Given the description of an element on the screen output the (x, y) to click on. 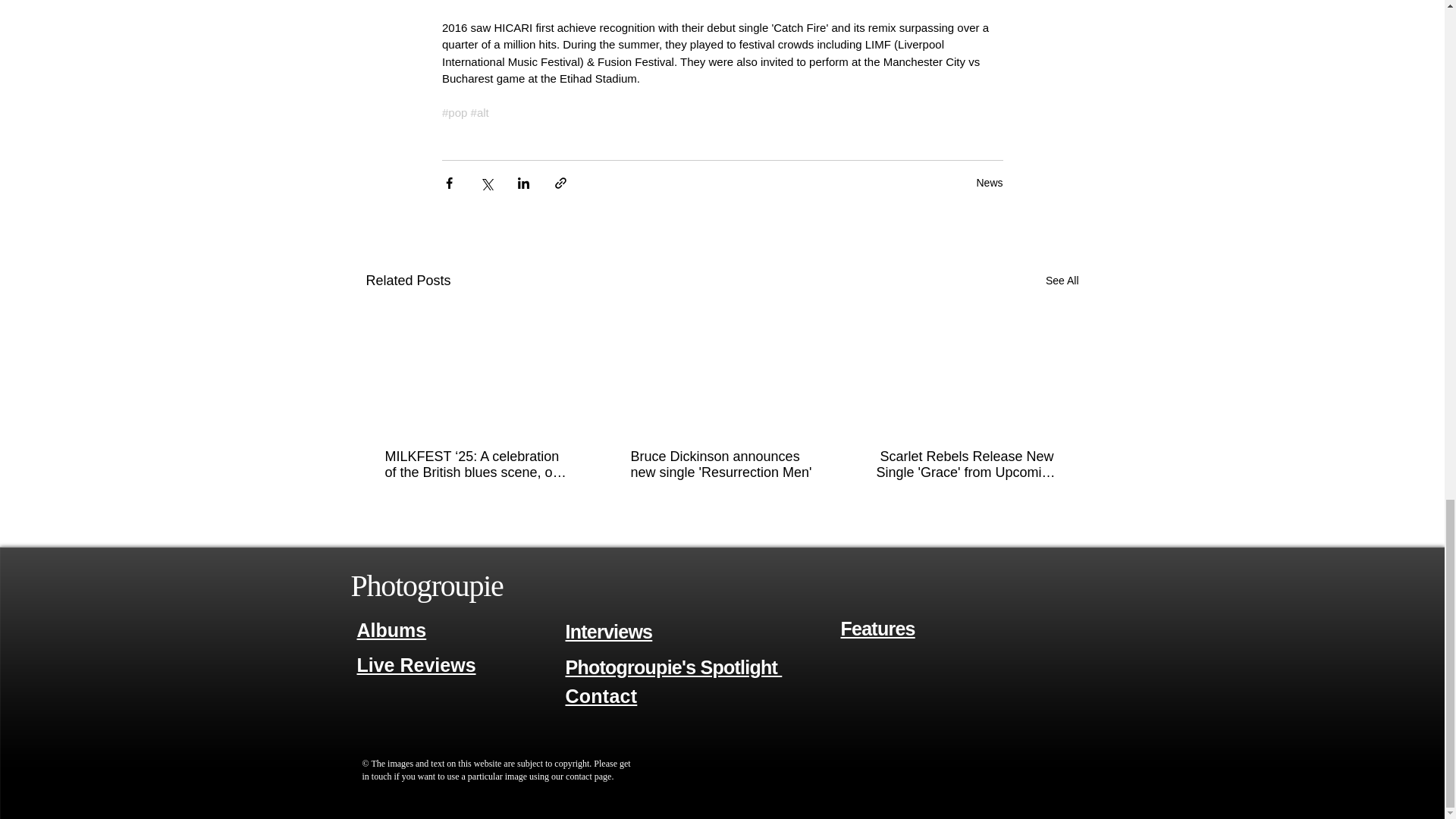
Photogroupie's Spotlight  (674, 667)
Live Reviews (416, 665)
See All (1061, 280)
Albums (391, 629)
News (989, 182)
Interviews (609, 631)
Bruce Dickinson announces new single 'Resurrection Men' (721, 464)
Contact (601, 696)
Photogroupie (426, 585)
